Given the description of an element on the screen output the (x, y) to click on. 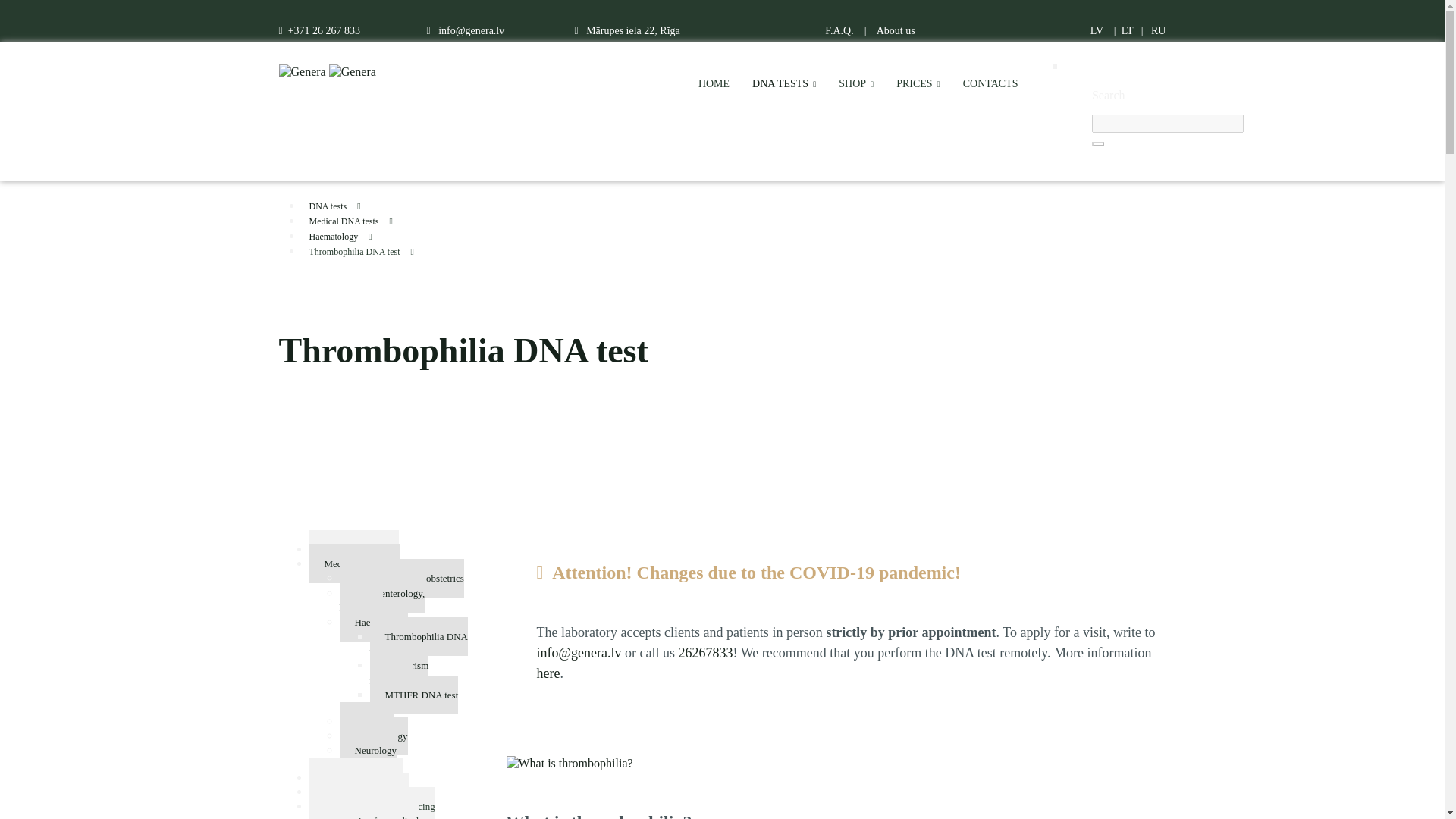
About us (895, 30)
Medical DNA tests (343, 221)
Thrombophilia DNA test (357, 250)
DNA tests (357, 205)
RU (1158, 30)
Haematology (357, 235)
F.A.Q. (839, 30)
LV (1096, 30)
Haematology (333, 235)
Thrombophilia DNA test (354, 251)
HOME (713, 87)
LT (1127, 30)
DNA TESTS (783, 87)
DNA tests (327, 205)
Medical DNA tests (357, 220)
